Given the description of an element on the screen output the (x, y) to click on. 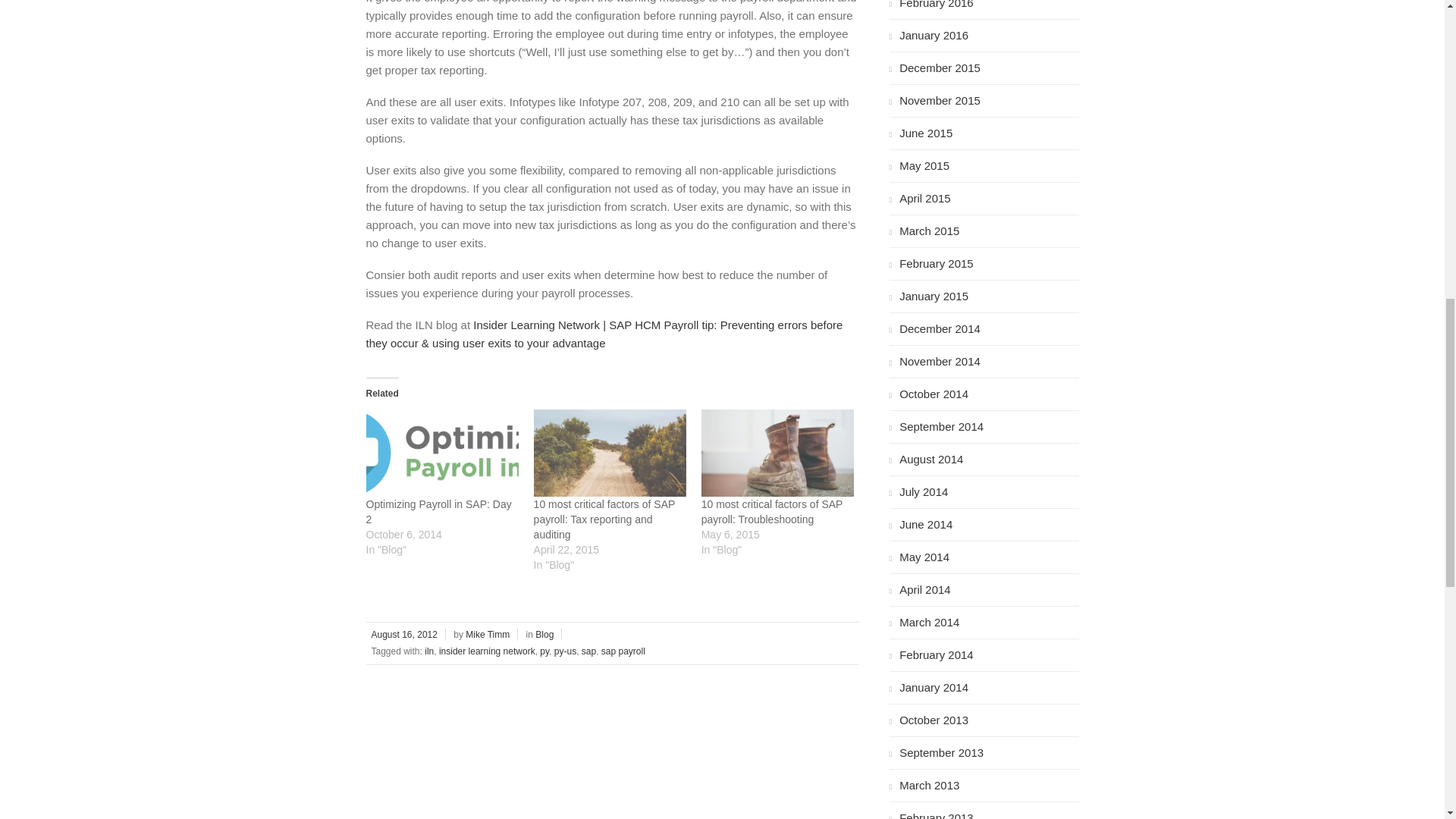
insider learning network (487, 651)
Optimizing Payroll in SAP: Day 2 (438, 511)
10 most critical factors of SAP payroll: Troubleshooting (772, 511)
Optimizing Payroll in SAP: Day 2 (438, 511)
py-us (565, 651)
Mike Timm (488, 634)
sap (587, 651)
10 most critical factors of SAP payroll: Troubleshooting (777, 452)
sap payroll (623, 651)
August 16, 2012 (405, 634)
Optimizing Payroll in SAP: Day 2 (441, 452)
10 most critical factors of SAP payroll: Troubleshooting (772, 511)
